Given the description of an element on the screen output the (x, y) to click on. 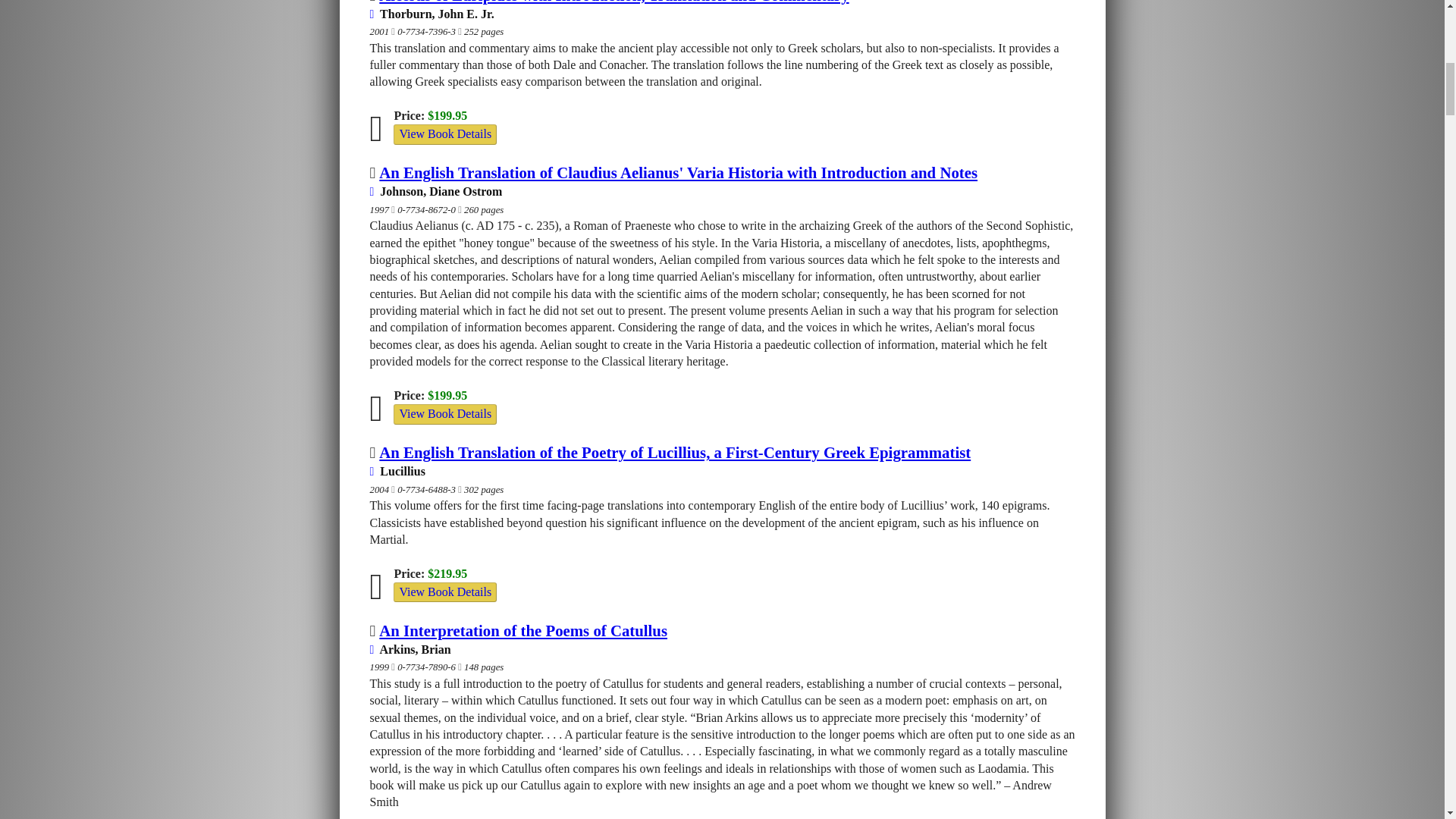
View Book Details (444, 134)
View Book Details (444, 133)
View Book Details (444, 413)
 Thorburn, John E. Jr. (432, 13)
View Book Details (444, 591)
View Book Details (444, 591)
 Lucillius (397, 471)
 Arkins, Brian (410, 649)
